Given the description of an element on the screen output the (x, y) to click on. 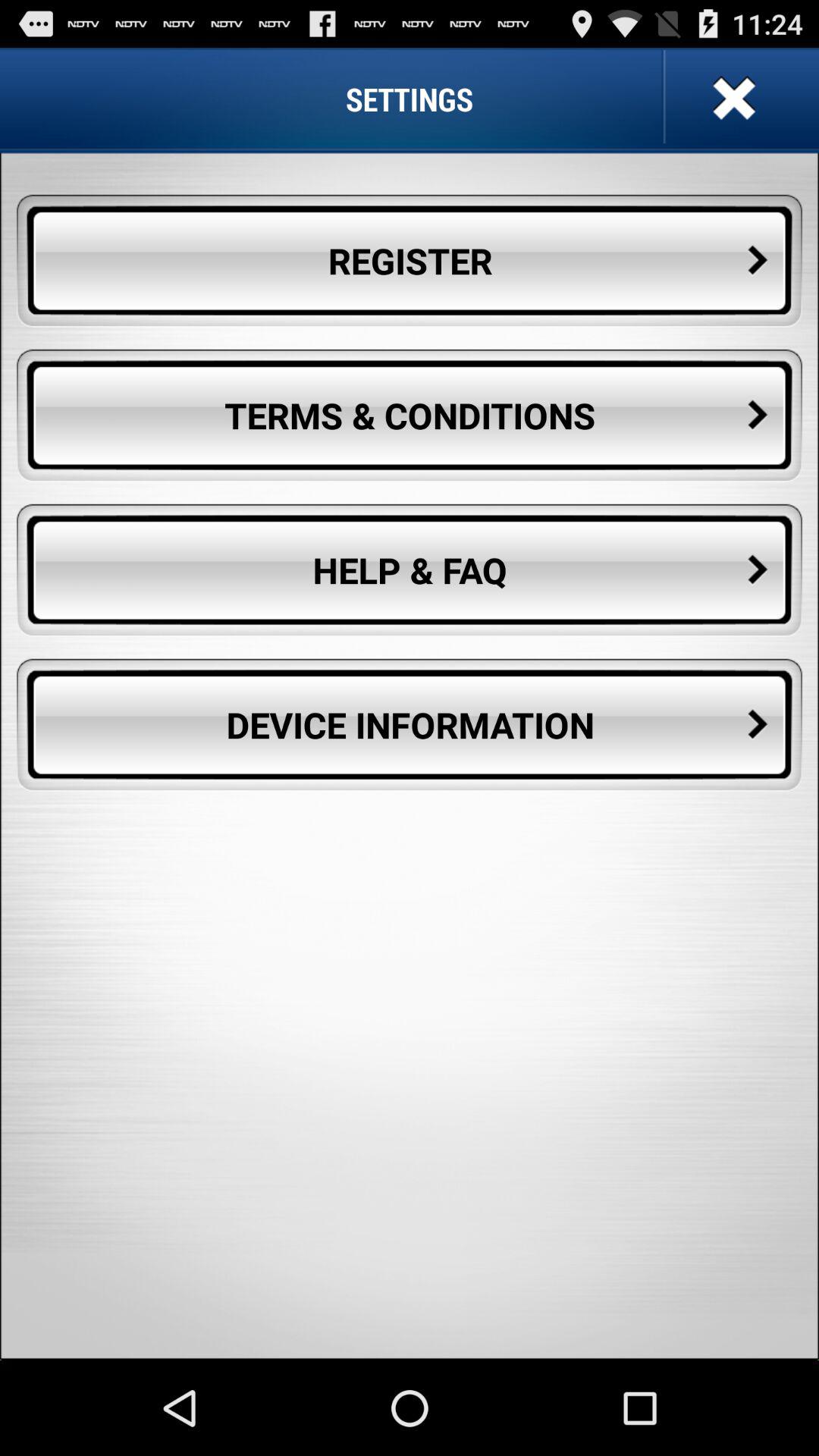
close window (732, 99)
